Given the description of an element on the screen output the (x, y) to click on. 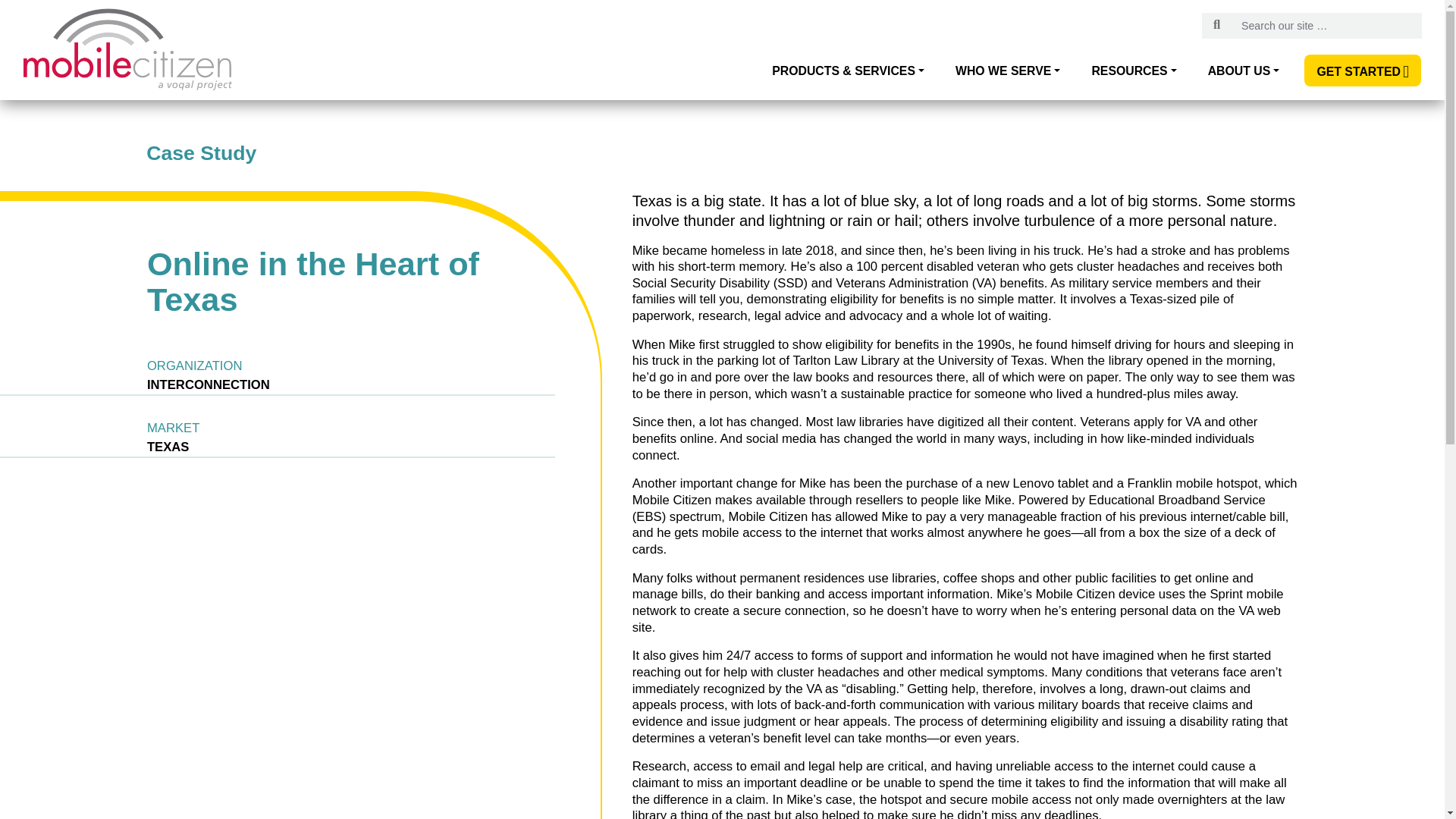
RESOURCES (1133, 71)
ABOUT US (1243, 71)
GET STARTED (1362, 69)
Search for: (1326, 25)
WHO WE SERVE (1007, 71)
